Given the description of an element on the screen output the (x, y) to click on. 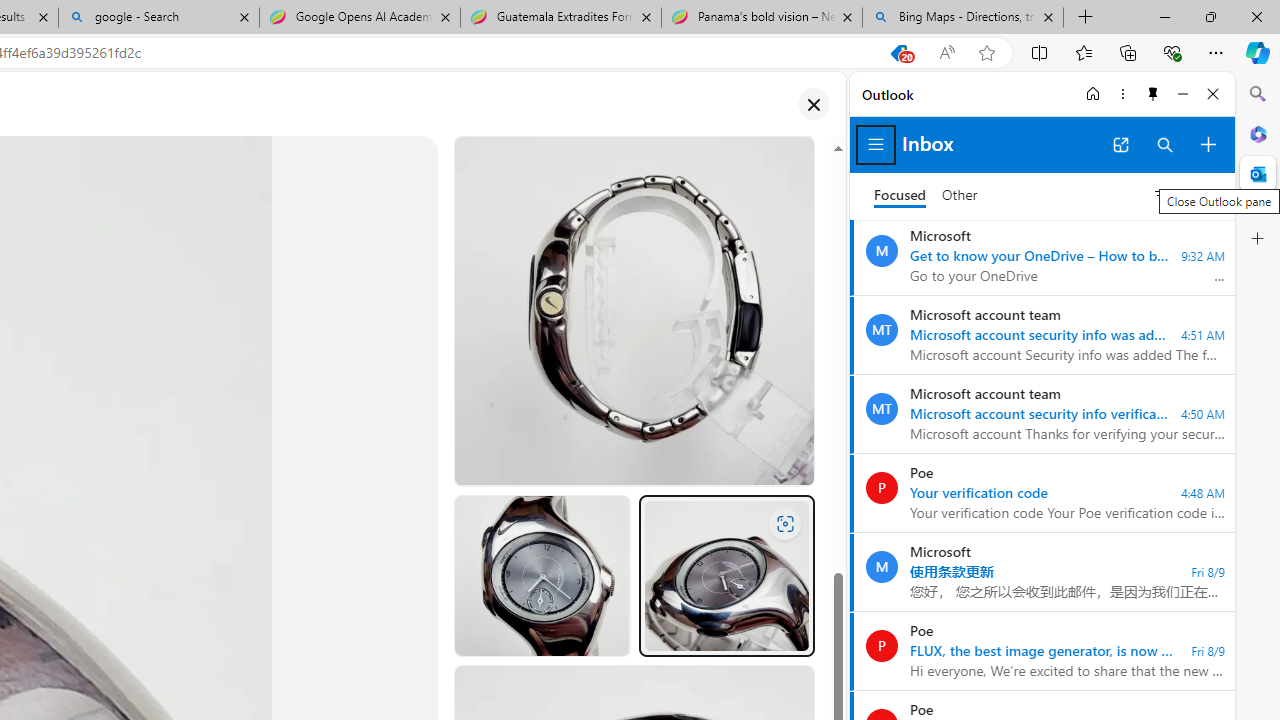
Focused Inbox, toggle to go to Other Inbox (925, 195)
Other (959, 195)
Focused (900, 195)
